Given the description of an element on the screen output the (x, y) to click on. 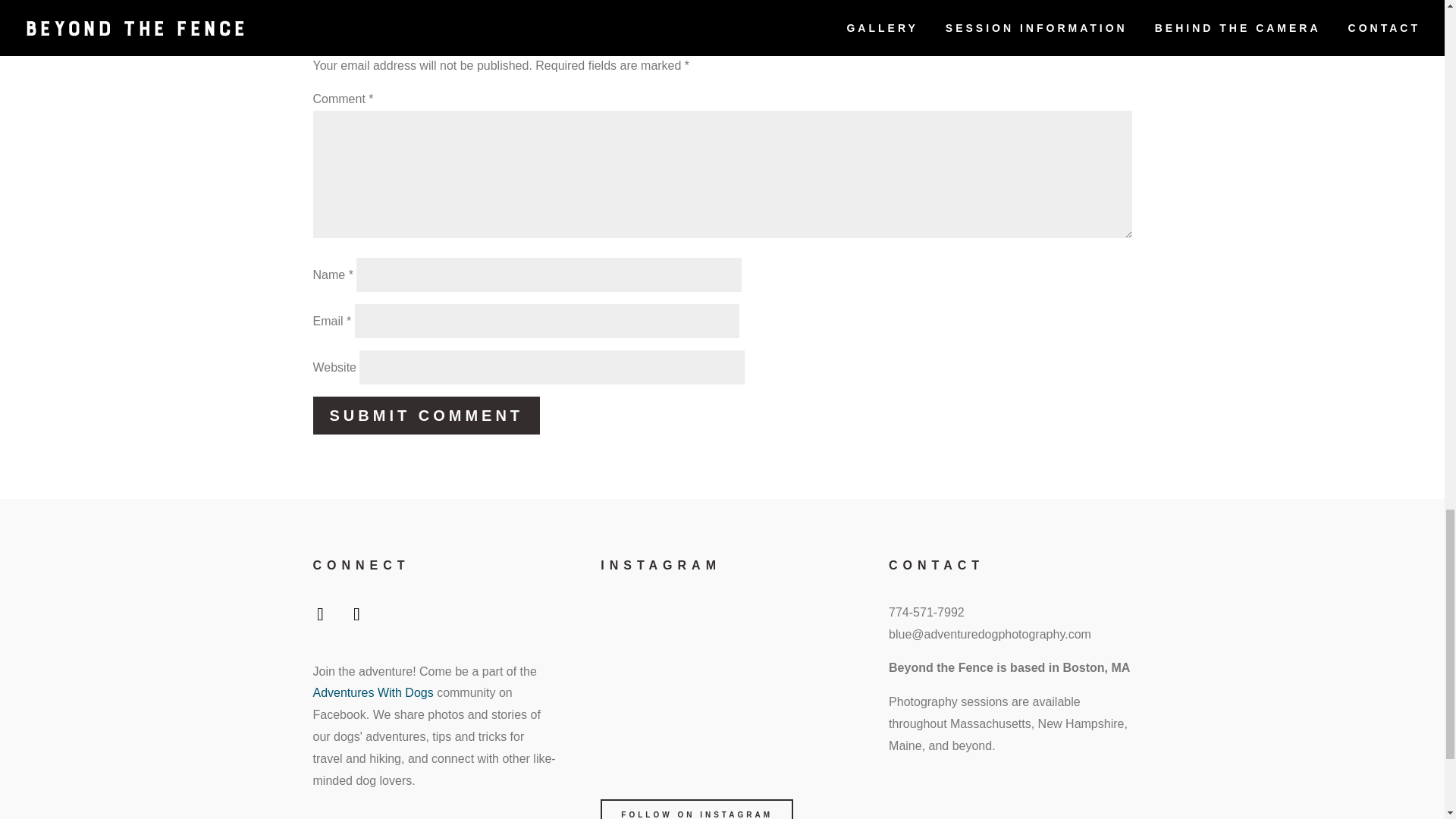
Follow on Facebook (319, 616)
Adventures With Dogs (372, 692)
Submit Comment (426, 415)
Follow on Instagram (355, 616)
Submit Comment (426, 415)
FOLLOW ON INSTAGRAM (696, 809)
